Given the description of an element on the screen output the (x, y) to click on. 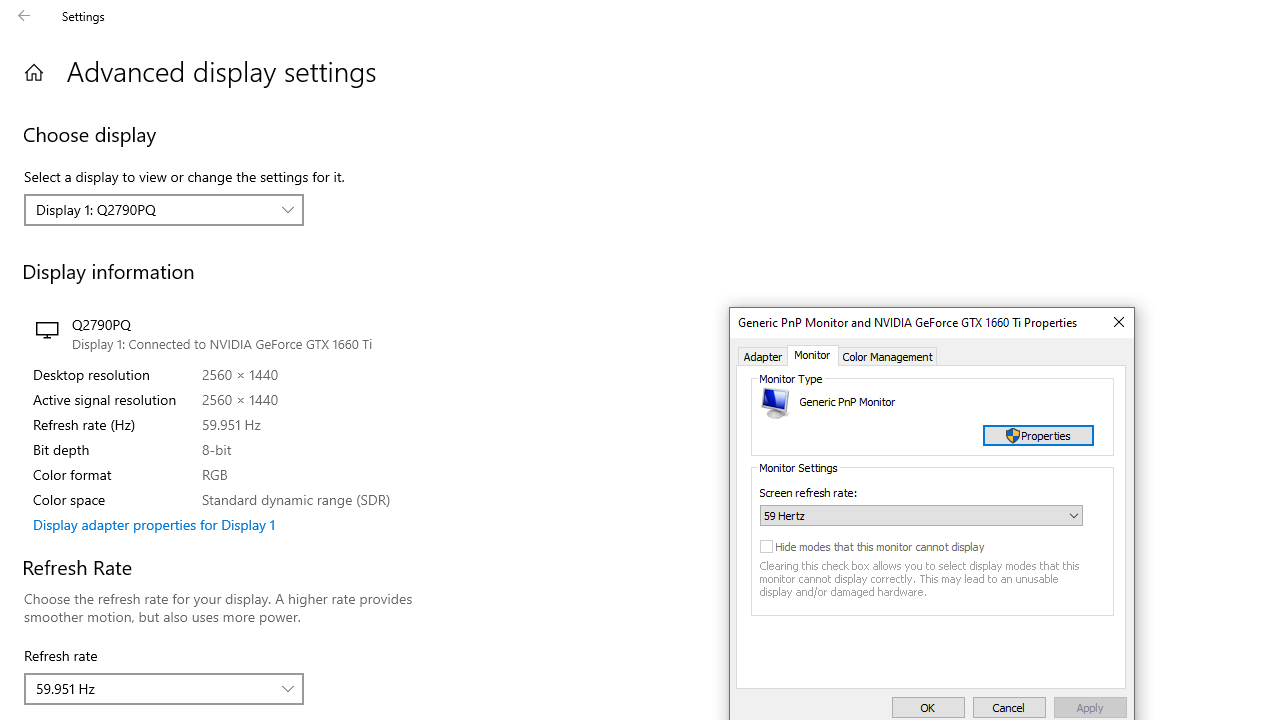
Screen refresh rate: (921, 515)
Close (1117, 322)
Color Management (888, 356)
OK (928, 707)
Adapter (763, 356)
Apply (1090, 707)
Open (1074, 515)
Properties (1037, 435)
Cancel (1009, 707)
Monitor (812, 356)
Hide modes that this monitor cannot display (895, 547)
